Given the description of an element on the screen output the (x, y) to click on. 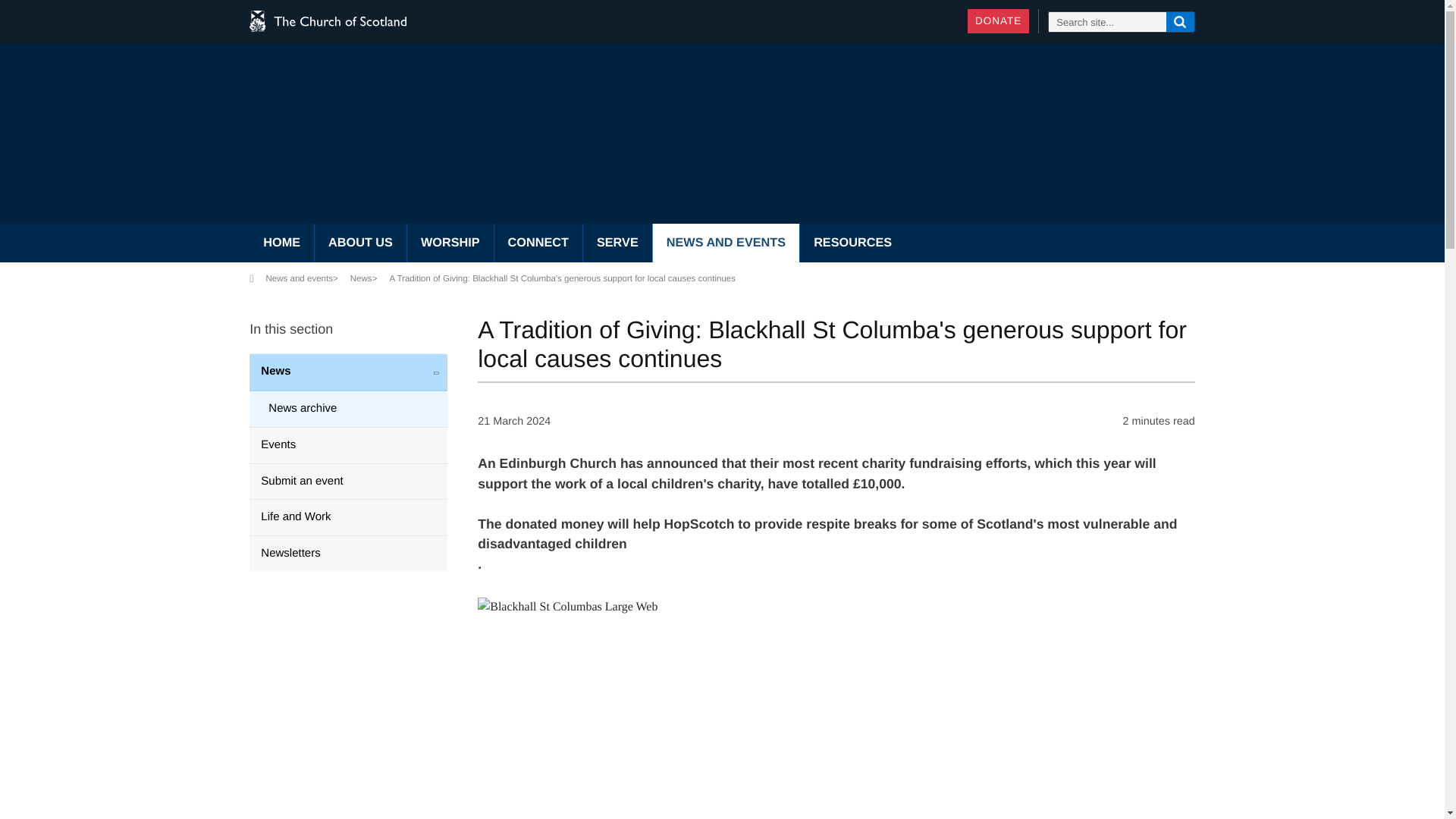
submit (1179, 21)
NEWS AND EVENTS (725, 242)
News and events (298, 279)
The Church of Scotland homepage (281, 242)
HOME (281, 242)
Events (347, 444)
DONATE (998, 21)
Latest news and events (725, 242)
SERVE (617, 242)
WORSHIP (450, 242)
